Given the description of an element on the screen output the (x, y) to click on. 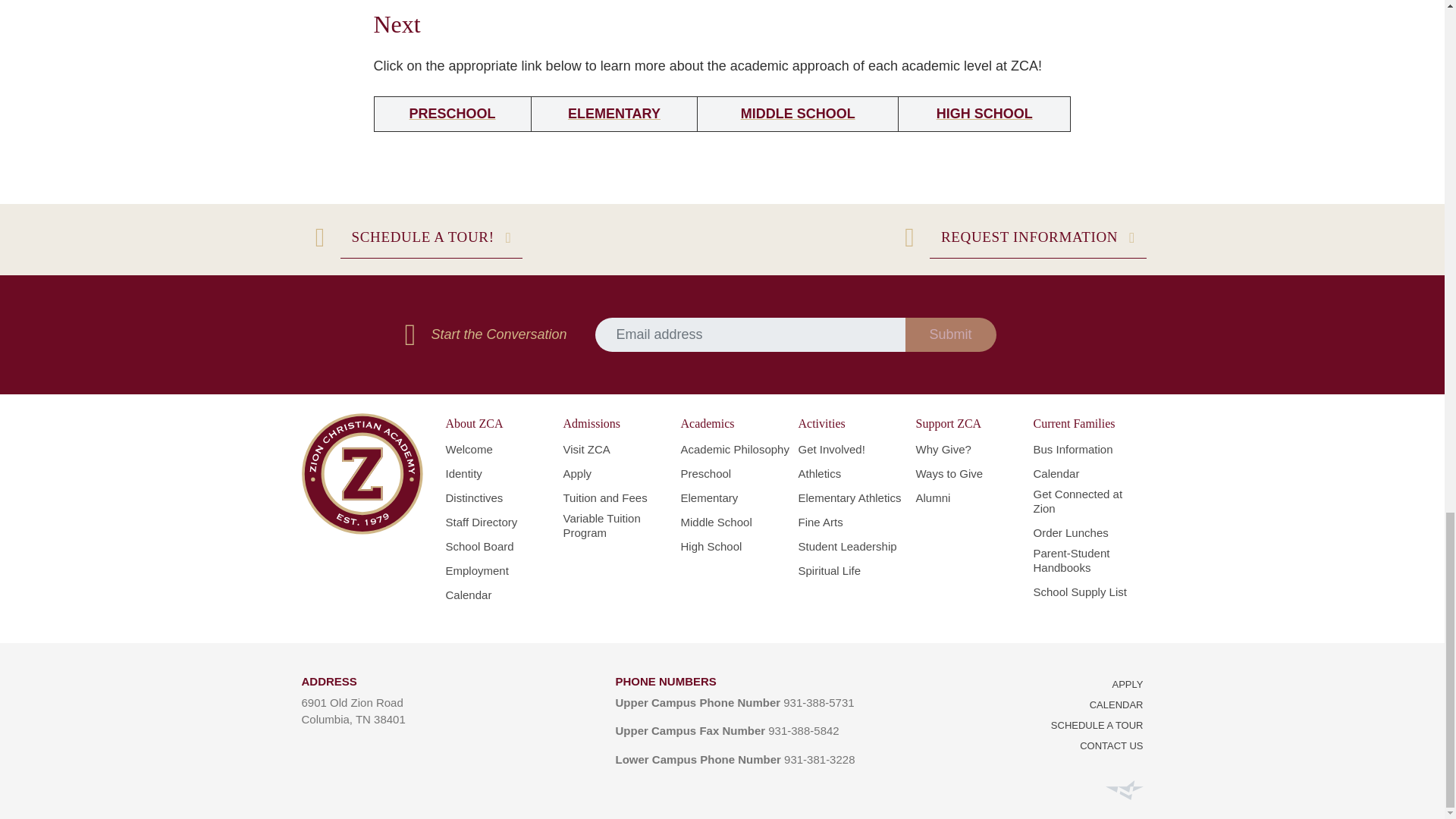
Developed by North Star Marketing (1123, 789)
Submit (950, 334)
Go to Home Page (362, 473)
